Given the description of an element on the screen output the (x, y) to click on. 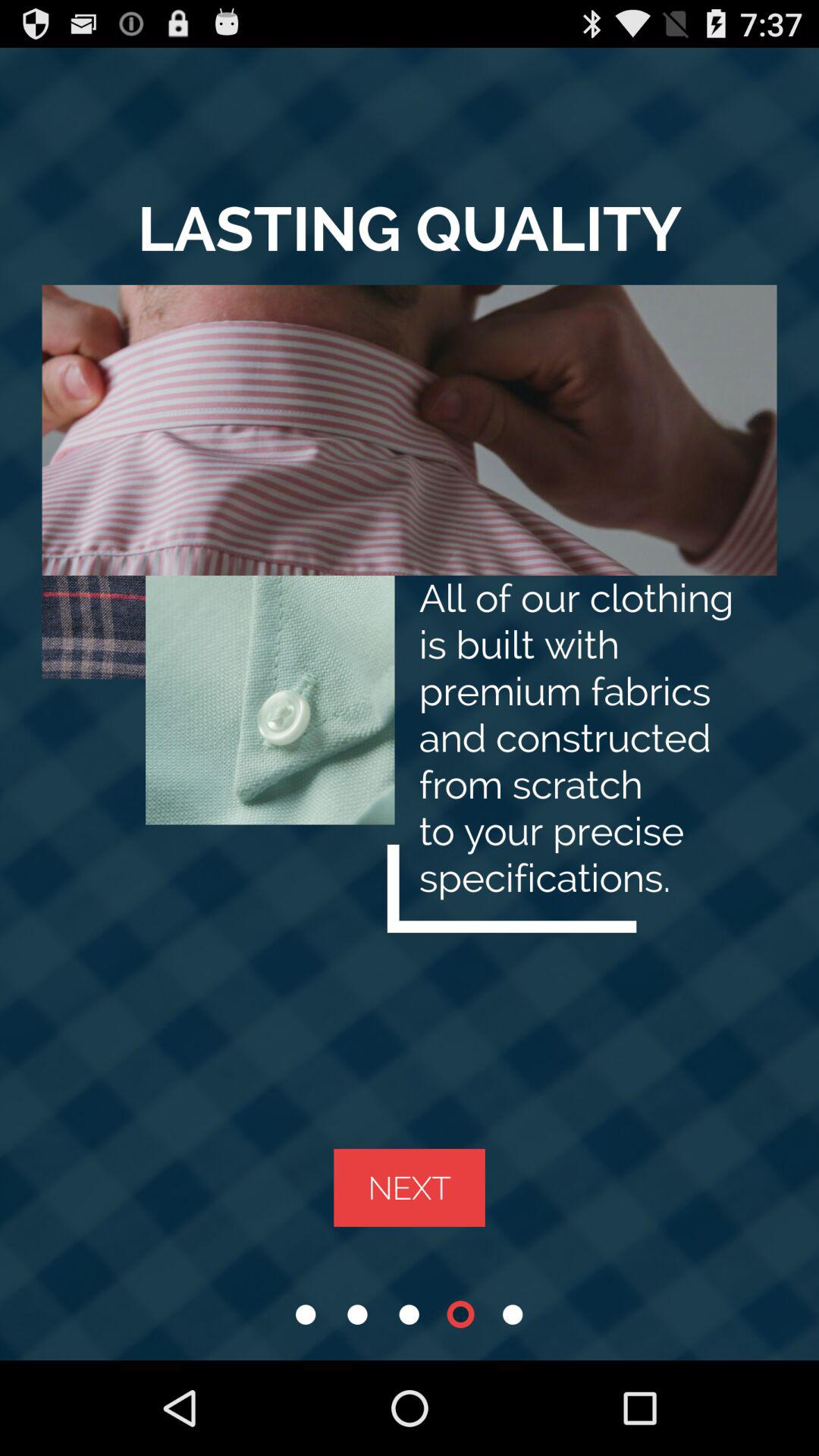
select the app below the all of our item (409, 1187)
